Given the description of an element on the screen output the (x, y) to click on. 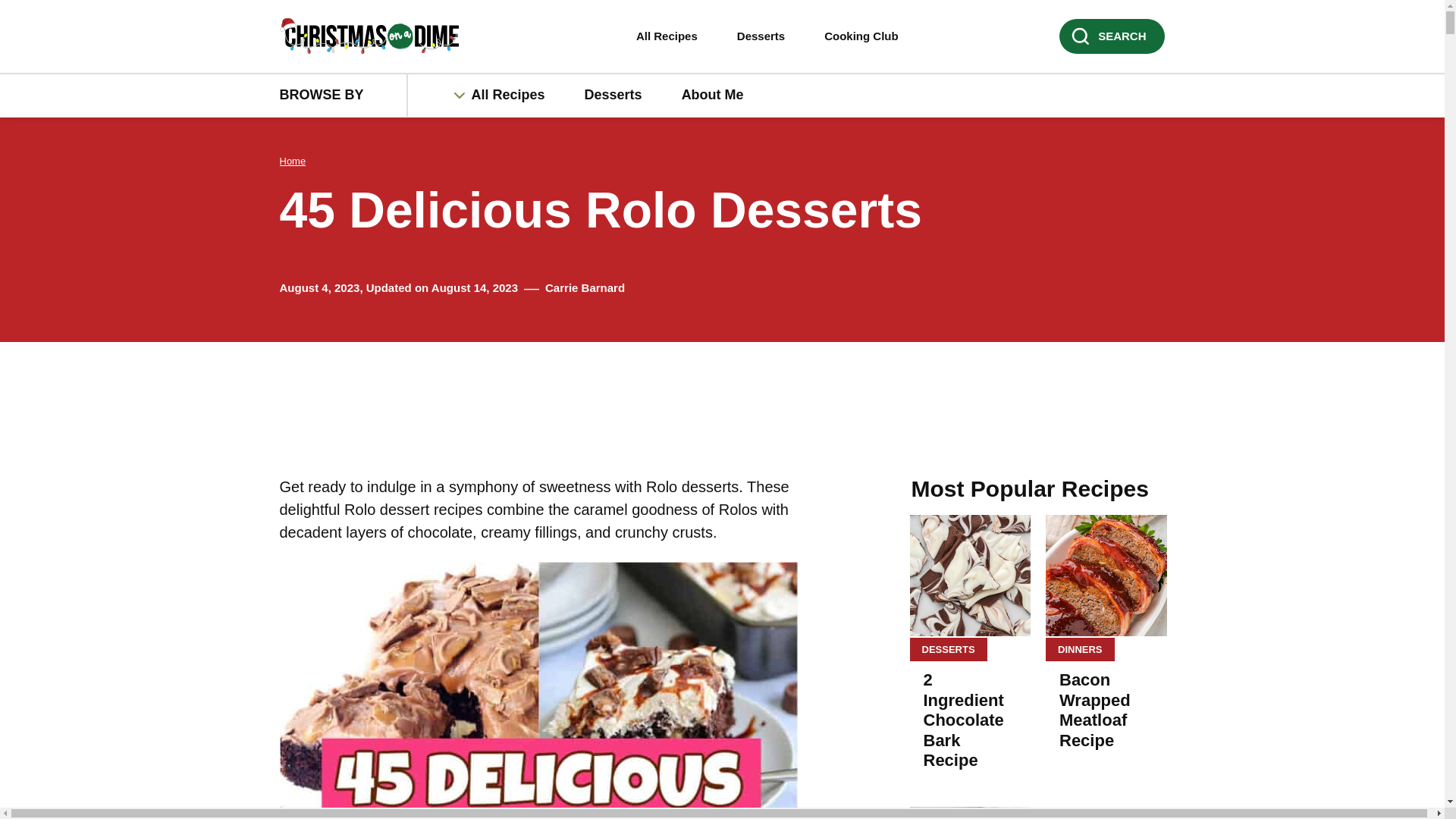
BROWSE BY (342, 95)
All Recipes (675, 36)
SEARCH (1111, 36)
Home (292, 161)
Carrie Barnard (584, 287)
All Recipes (516, 95)
Desserts (761, 36)
About Me (712, 95)
Cooking Club (861, 36)
christmasonadime.com (376, 36)
Desserts (613, 95)
